Given the description of an element on the screen output the (x, y) to click on. 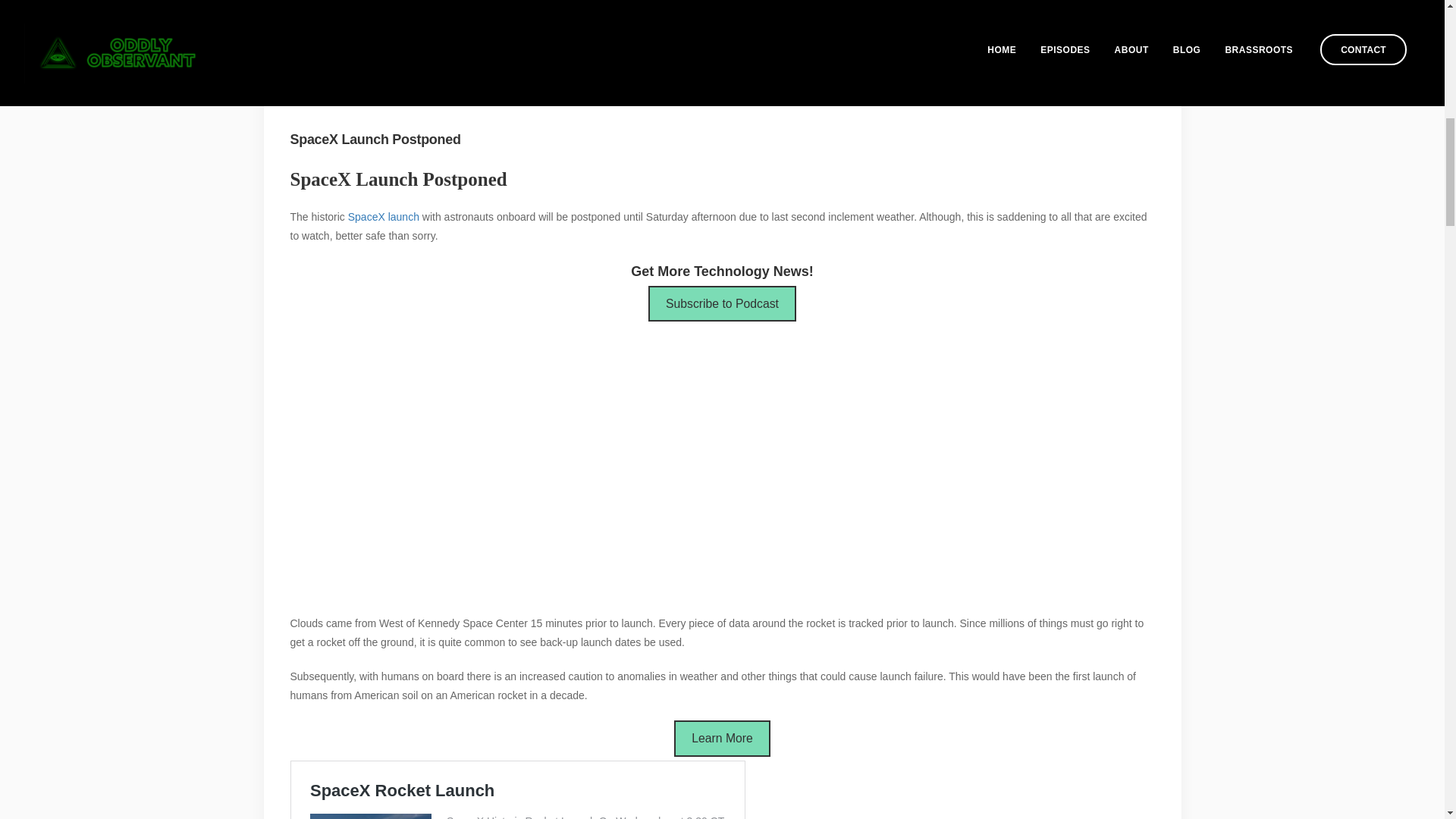
Subscribe to Podcast (721, 303)
SpaceX launch (383, 216)
Learn More (722, 737)
